Given the description of an element on the screen output the (x, y) to click on. 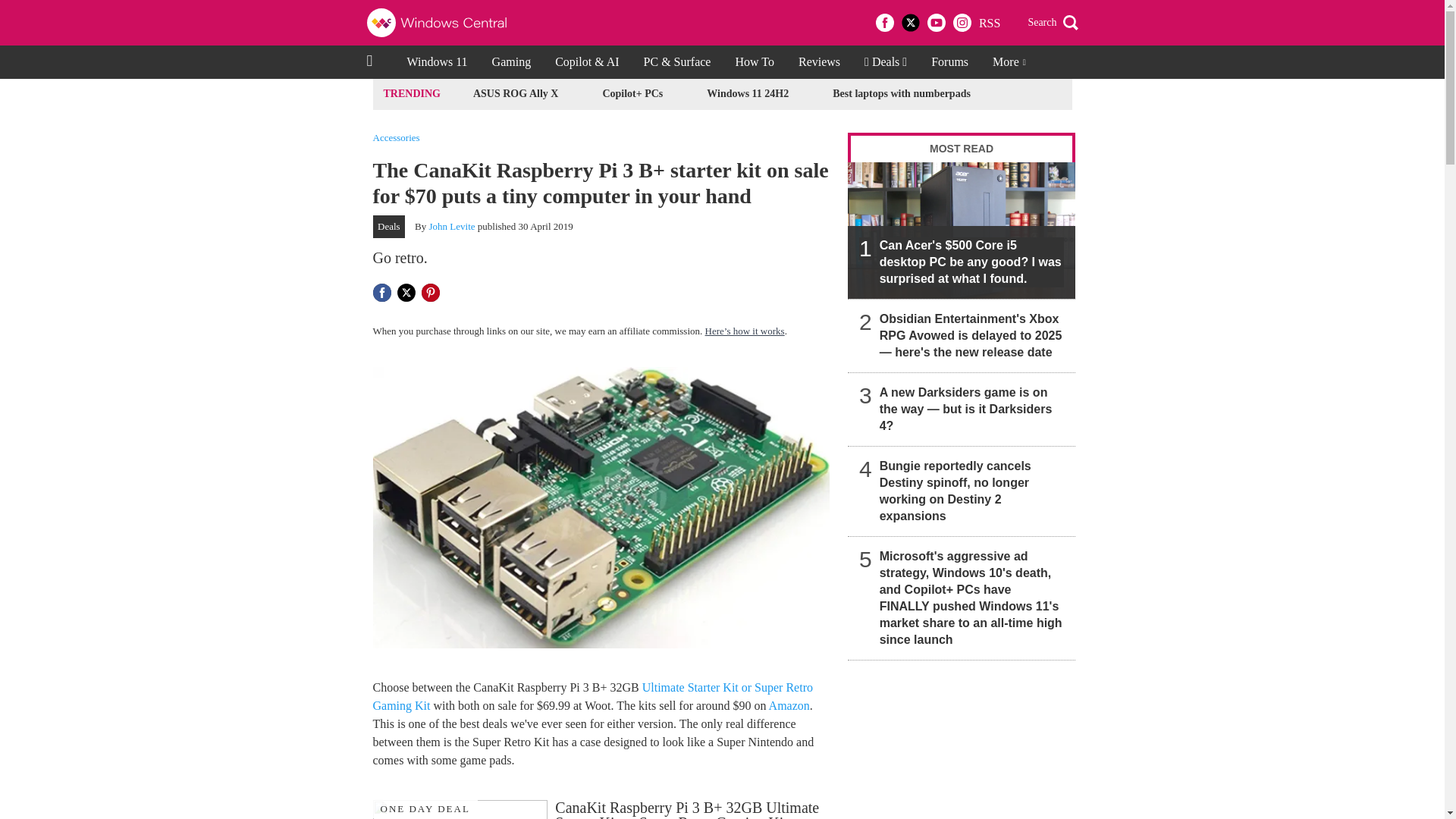
Windows 11 24H2 (747, 93)
Windows 11 (436, 61)
Reviews (818, 61)
Ultimate Starter Kit or Super Retro Gaming Kit (592, 695)
John Levite (452, 225)
Amazon (788, 705)
RSS (989, 22)
ASUS ROG Ally X (515, 93)
Best laptops with numberpads (901, 93)
Accessories (396, 137)
